Given the description of an element on the screen output the (x, y) to click on. 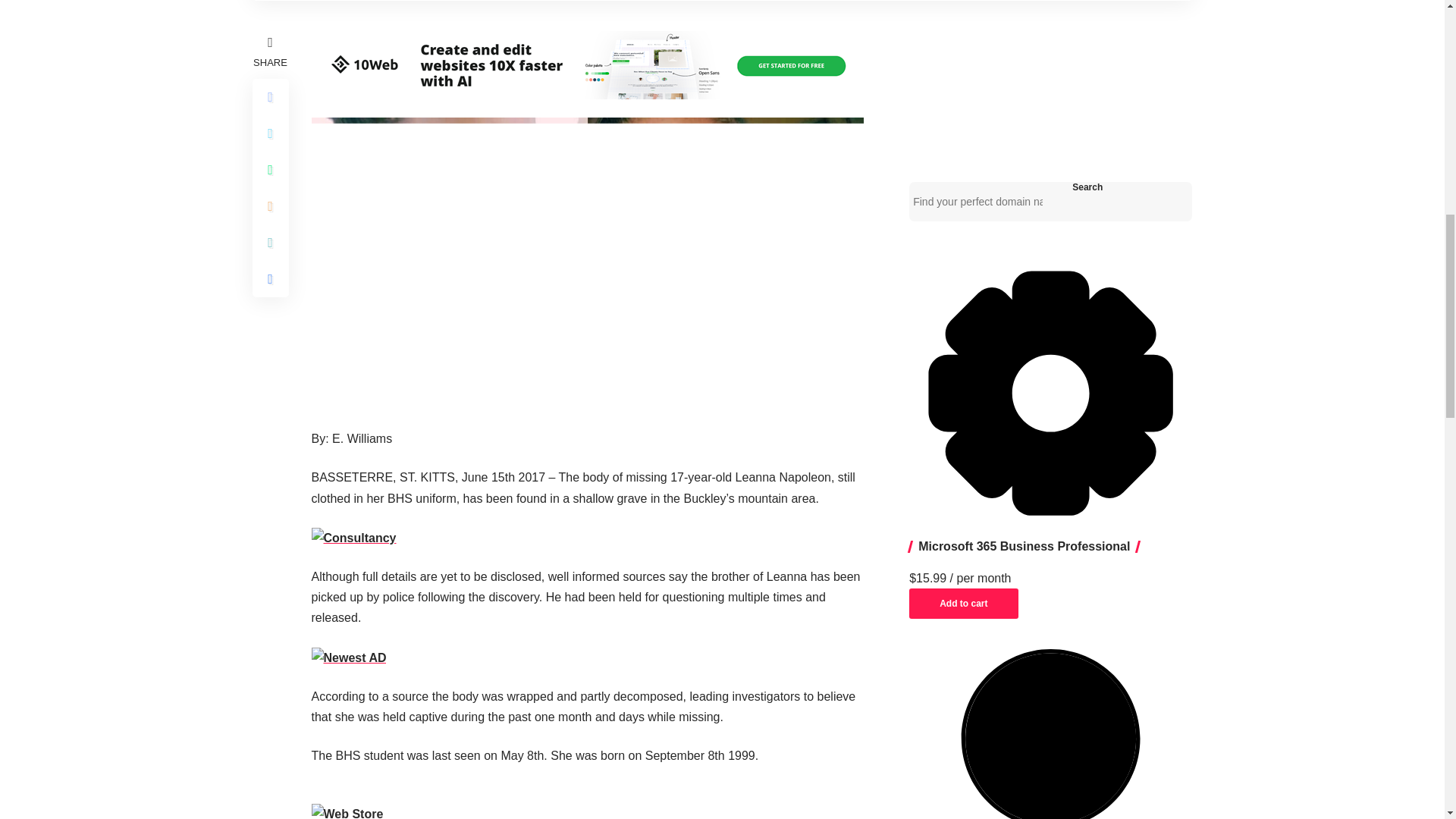
Search (1087, 186)
Additional Products (1050, 392)
Search (1087, 186)
WordPress (1050, 734)
